Given the description of an element on the screen output the (x, y) to click on. 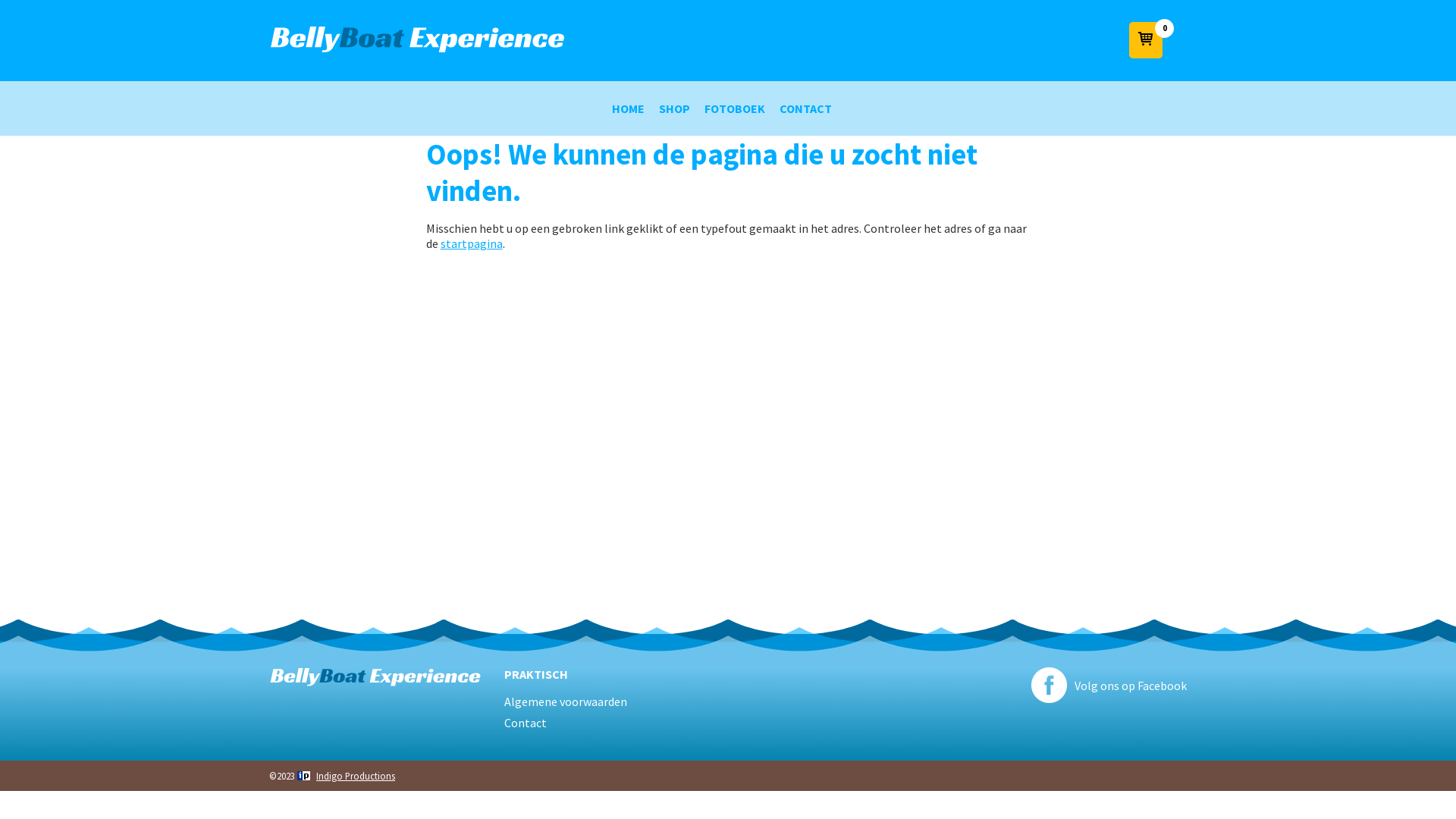
FOTOBOEK Element type: text (734, 107)
Volg ons op Facebook Element type: text (1127, 685)
0 Element type: text (1145, 39)
startpagina Element type: text (471, 242)
SHOP Element type: text (674, 107)
Indigo Productions Element type: text (346, 774)
CONTACT Element type: text (805, 107)
Algemene voorwaarden Element type: text (610, 700)
HOME Element type: text (627, 107)
Contact Element type: text (610, 721)
